Given the description of an element on the screen output the (x, y) to click on. 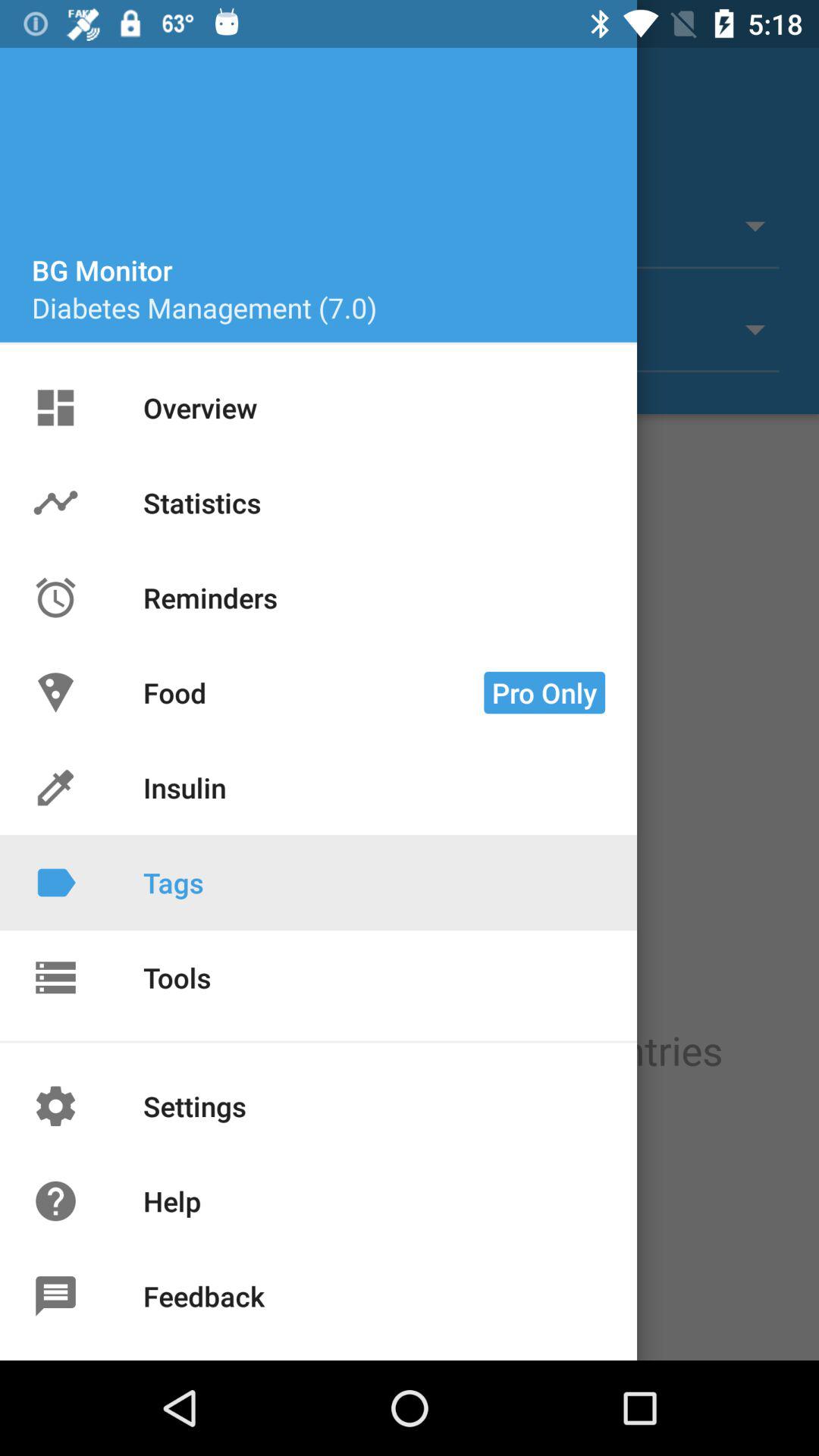
click on overview icon (55, 407)
mark icon in front text insulin (55, 786)
select the icon before feedback on the page (55, 1296)
click on the image icon to the left of food text (55, 692)
